Given the description of an element on the screen output the (x, y) to click on. 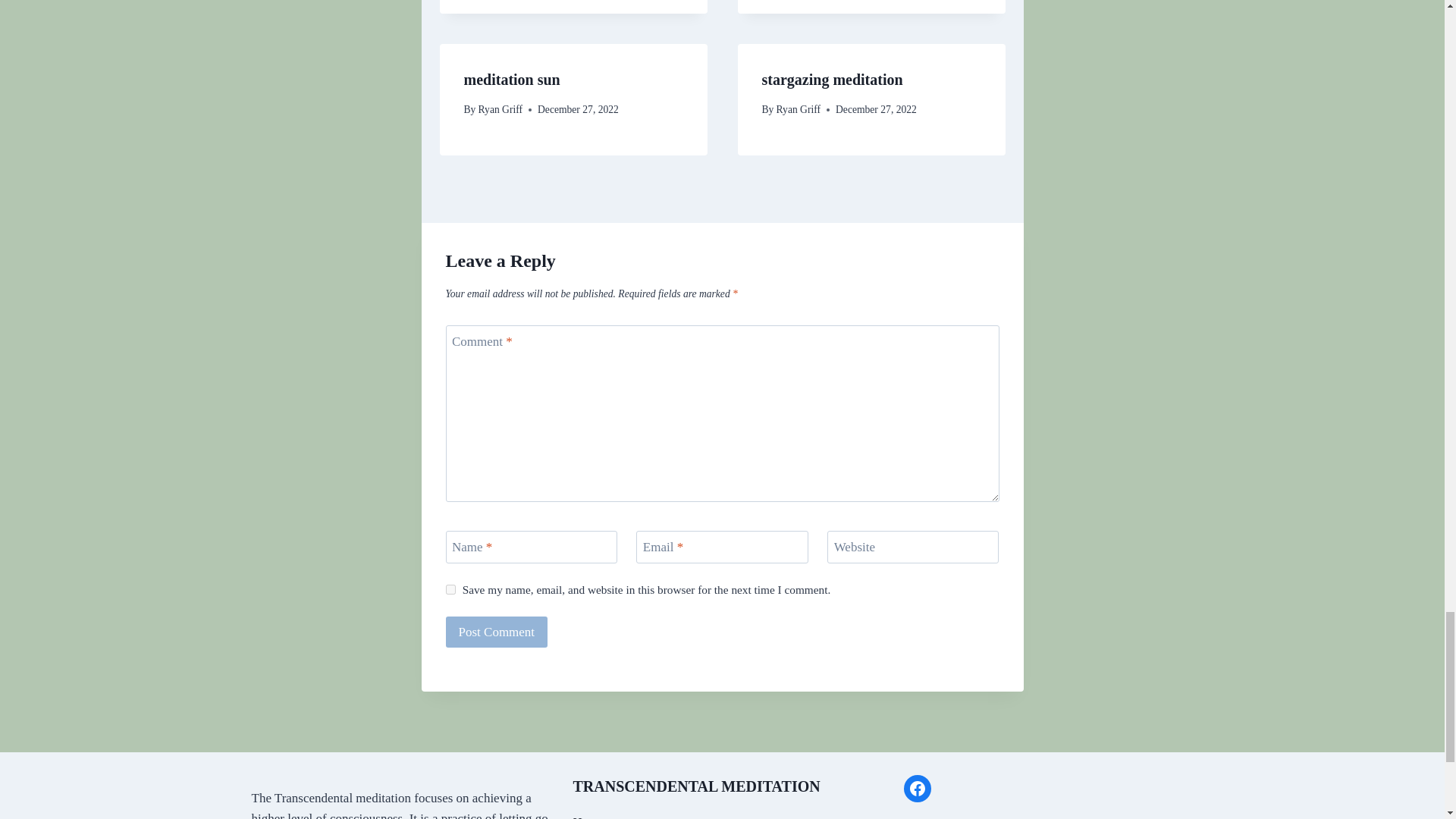
Post Comment (496, 631)
meditation sun (512, 79)
yes (450, 589)
